Given the description of an element on the screen output the (x, y) to click on. 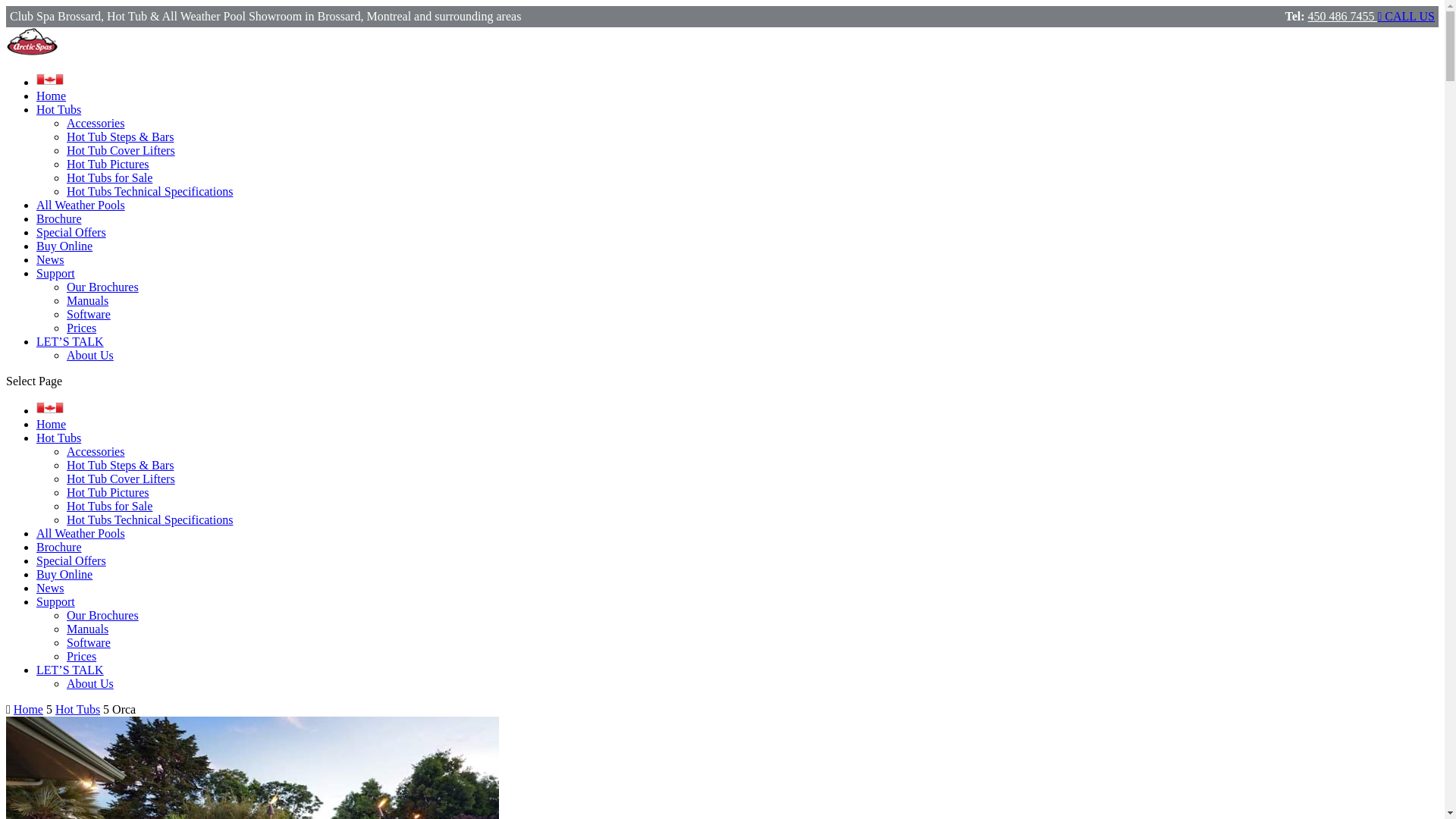
Hot Tub Cover Lifters Element type: text (120, 478)
Hot Tub Pictures Element type: text (107, 492)
Prices Element type: text (81, 655)
Special Offers Element type: text (71, 231)
Special Offers Element type: text (71, 560)
Support Element type: text (55, 601)
Choose Your Location Element type: hover (49, 79)
Hot Tubs Element type: text (77, 708)
Hot Tubs Element type: text (58, 109)
About Us Element type: text (89, 683)
Hot Tubs for Sale Element type: text (109, 177)
Hot Tub Cover Lifters Element type: text (120, 150)
Accessories Element type: text (95, 451)
All Weather Pools Element type: text (80, 533)
Buy Online Element type: text (64, 573)
Our Brochures Element type: text (102, 286)
Choose Your Location Element type: hover (49, 410)
News Element type: text (49, 587)
Brochure Element type: text (58, 546)
Support Element type: text (55, 272)
Hot Tub Pictures Element type: text (107, 163)
Hot Tubs for Sale Element type: text (109, 505)
Hot Tubs Element type: text (58, 437)
Manuals Element type: text (87, 628)
Hot Tub Steps & Bars Element type: text (119, 136)
Home Element type: text (28, 708)
About Us Element type: text (89, 354)
Home Element type: text (50, 95)
Hot Tub Steps & Bars Element type: text (119, 464)
Choose Your Location Element type: hover (49, 81)
News Element type: text (49, 259)
All Weather Pools Element type: text (80, 204)
Brochure Element type: text (58, 218)
Software Element type: text (88, 313)
Manuals Element type: text (87, 300)
450 486 7455 Element type: text (1342, 15)
Hot Tubs Technical Specifications Element type: text (149, 191)
Home Element type: text (50, 423)
Software Element type: text (88, 642)
Choose Your Location Element type: hover (49, 407)
Accessories Element type: text (95, 122)
Hot Tubs Technical Specifications Element type: text (149, 519)
Buy Online Element type: text (64, 245)
Our Brochures Element type: text (102, 614)
Prices Element type: text (81, 327)
